Given the description of an element on the screen output the (x, y) to click on. 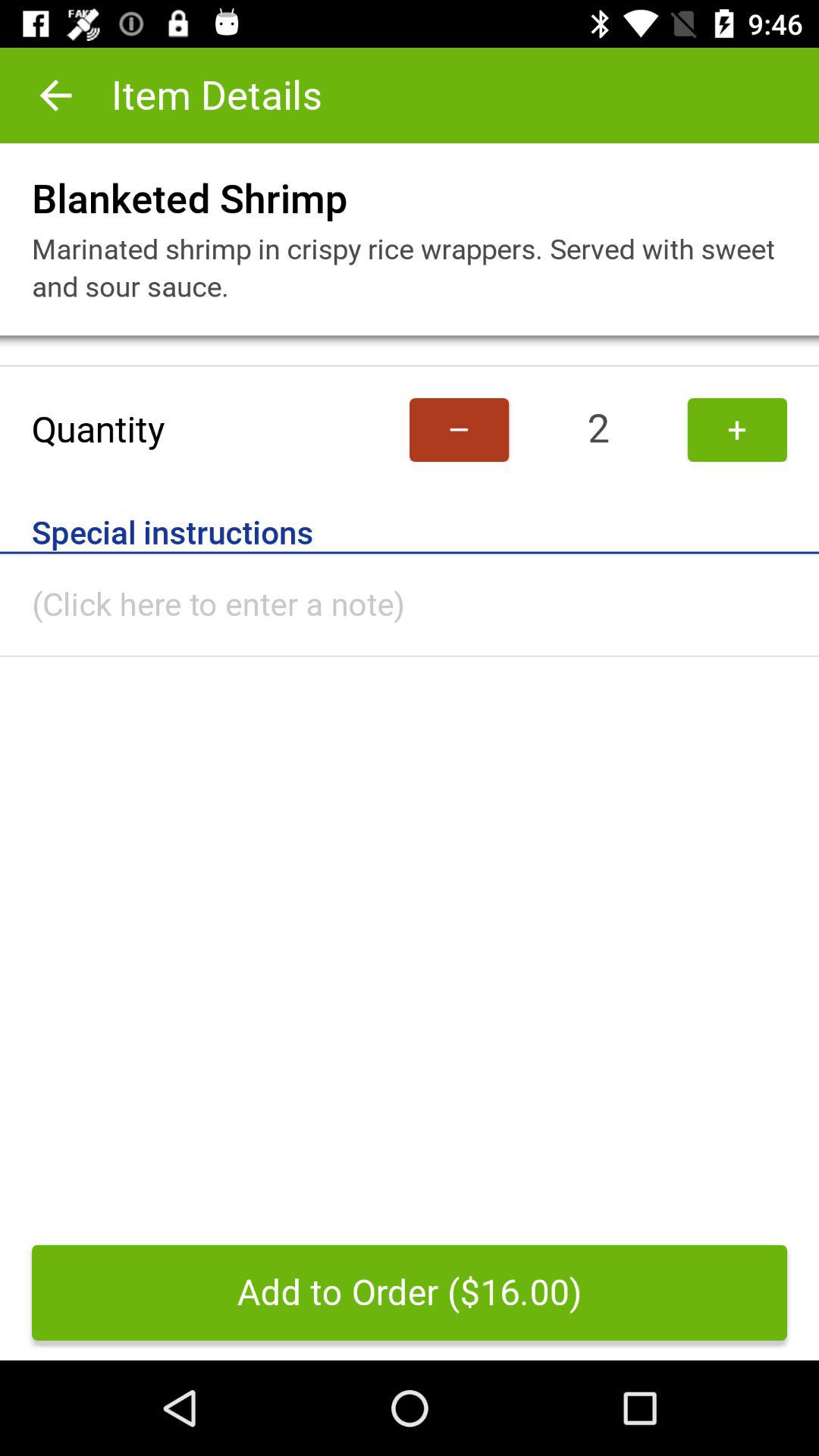
tap item to the left of item details icon (55, 95)
